Given the description of an element on the screen output the (x, y) to click on. 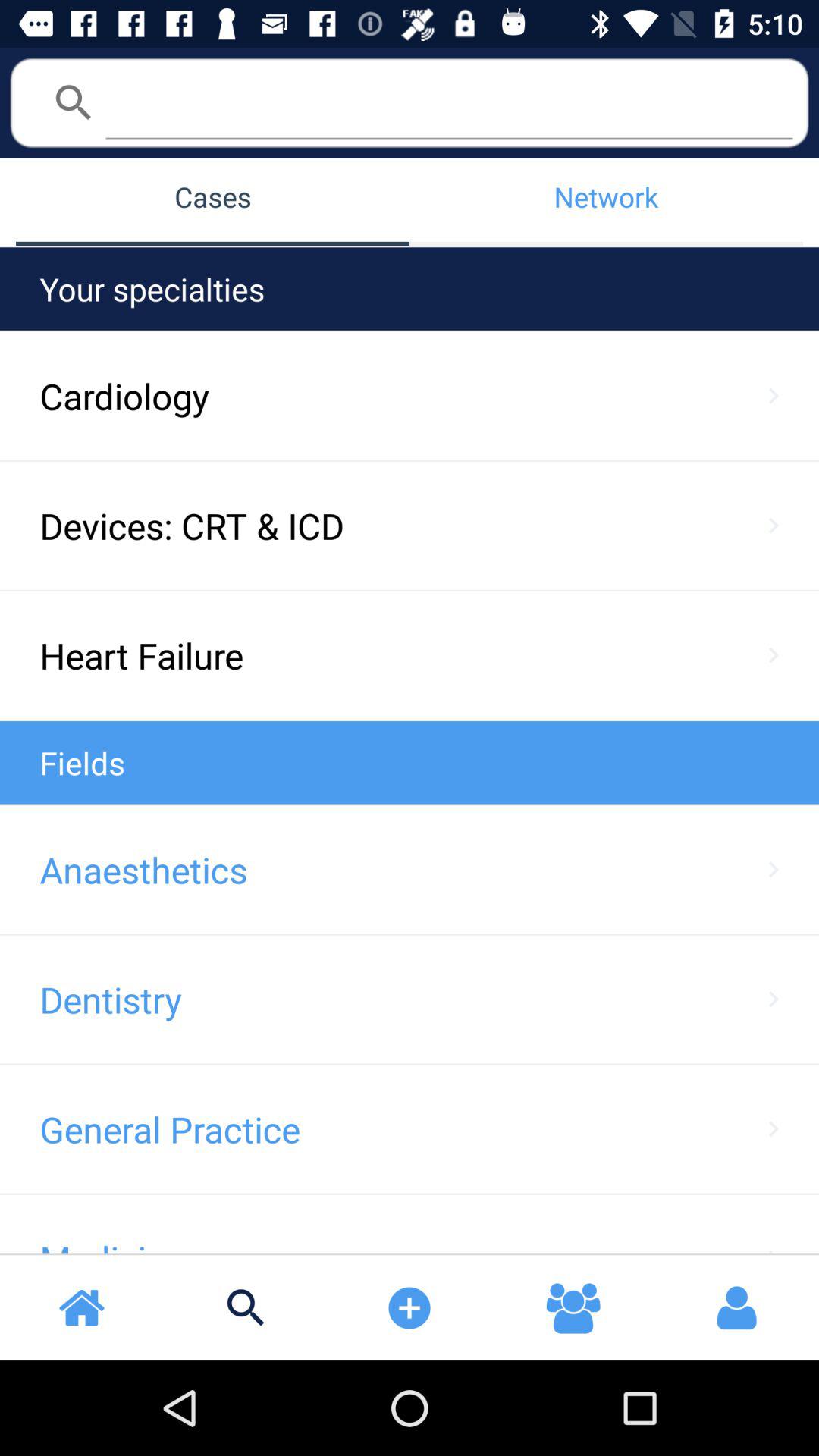
search bar (448, 101)
